Given the description of an element on the screen output the (x, y) to click on. 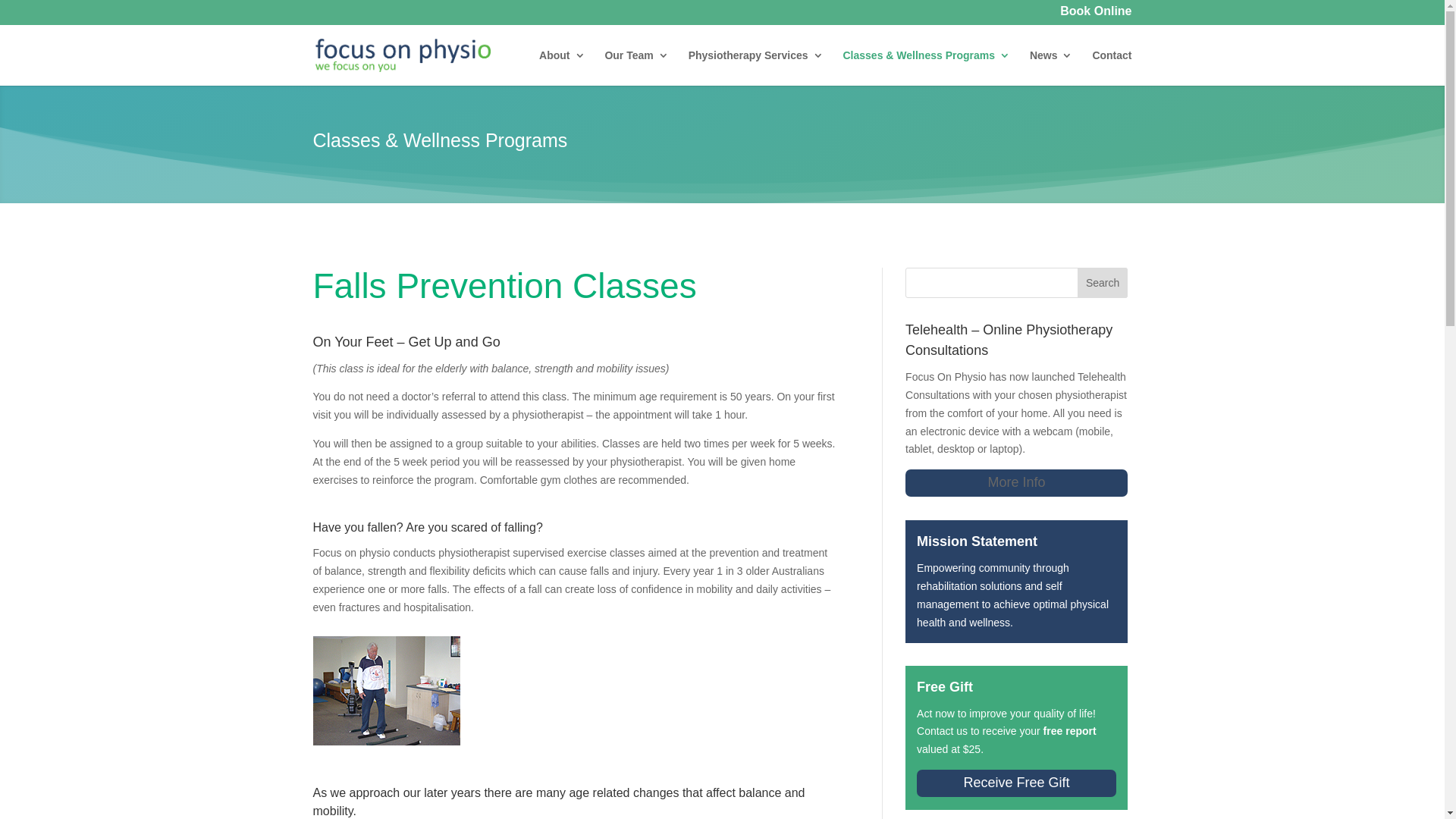
Receive Free Gift Element type: text (1016, 783)
Our Team Element type: text (636, 67)
About Element type: text (561, 67)
Search Element type: text (1102, 282)
Classes & Wellness Programs Element type: text (926, 67)
Book Online Element type: text (1095, 15)
Physiotherapy Services Element type: text (755, 67)
Contact Element type: text (1111, 67)
News Element type: text (1051, 67)
More Info Element type: text (1016, 482)
